Given the description of an element on the screen output the (x, y) to click on. 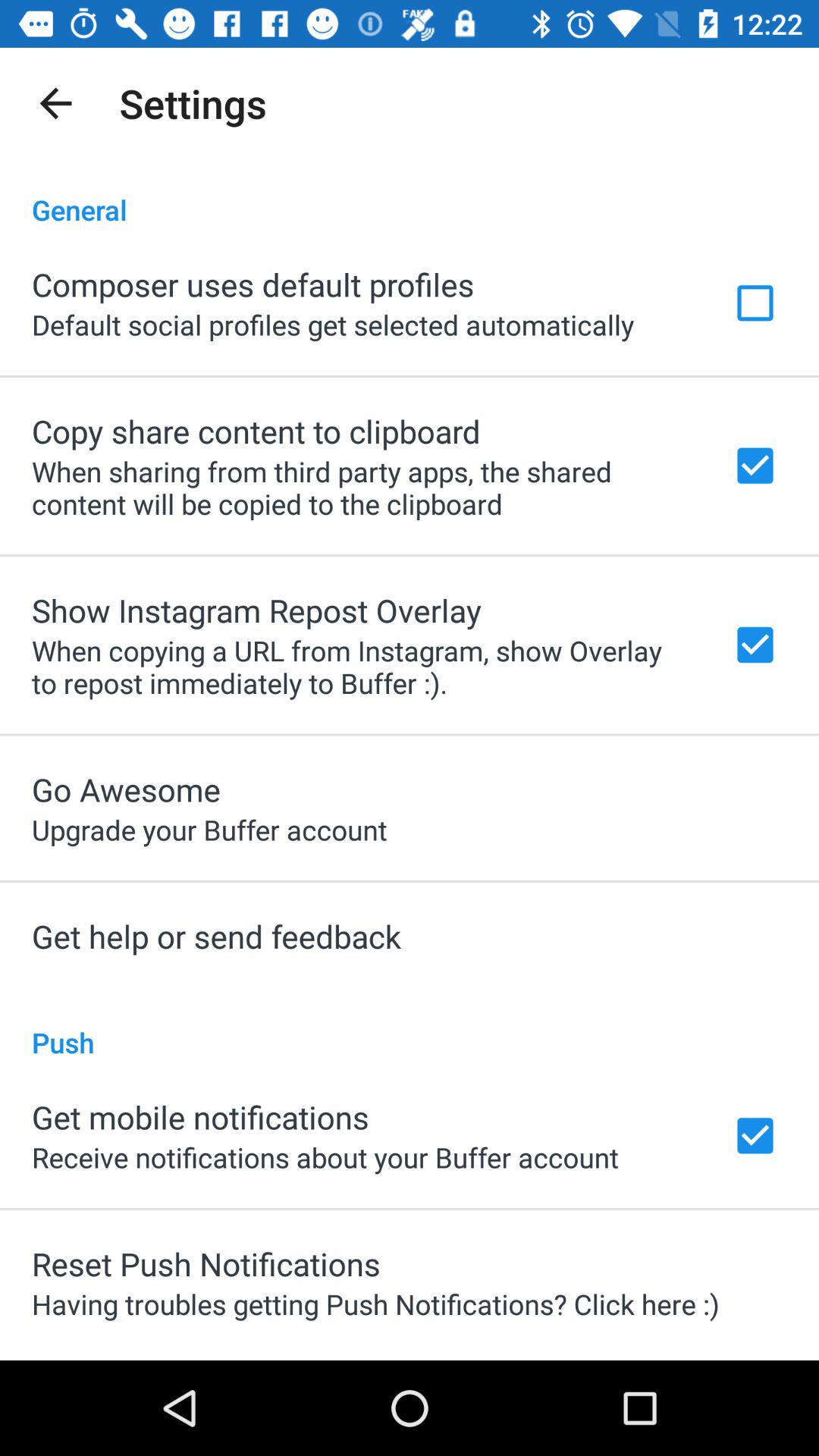
click the item above the receive notifications about icon (200, 1116)
